Given the description of an element on the screen output the (x, y) to click on. 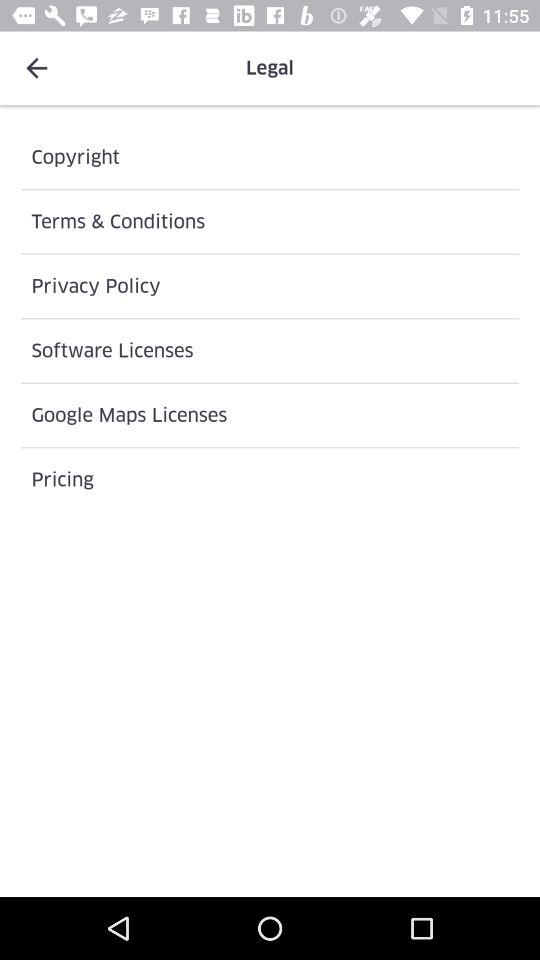
turn off the icon below the copyright item (270, 221)
